Given the description of an element on the screen output the (x, y) to click on. 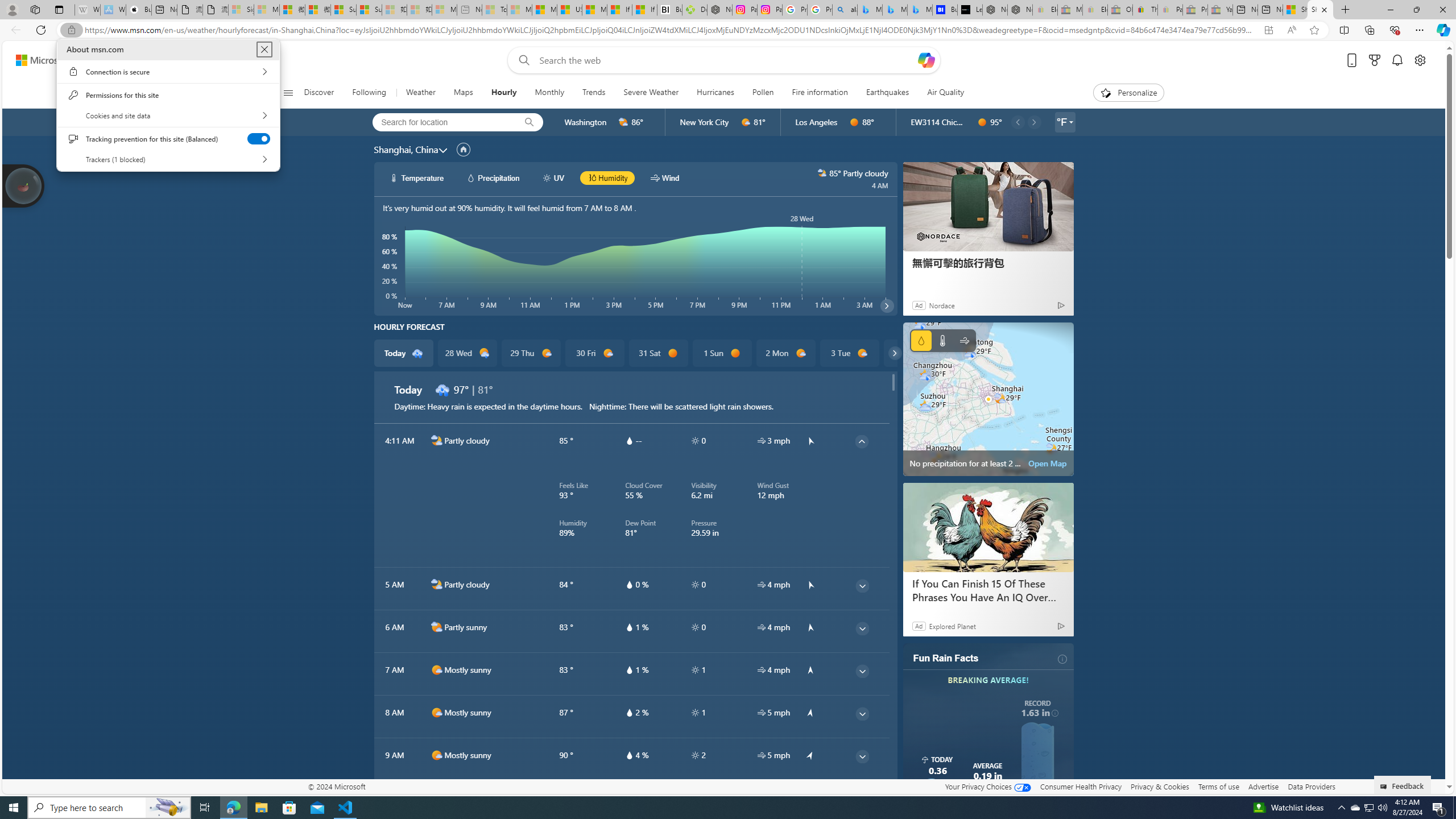
hourlyTable/uv (694, 755)
Hourly (503, 92)
Task View (204, 807)
locationName/setHomeLocation (462, 149)
Connection is secure (167, 71)
Air Quality (945, 92)
d1000 (436, 797)
Temperature (942, 340)
Visual Studio Code - 1 running window (345, 807)
